Given the description of an element on the screen output the (x, y) to click on. 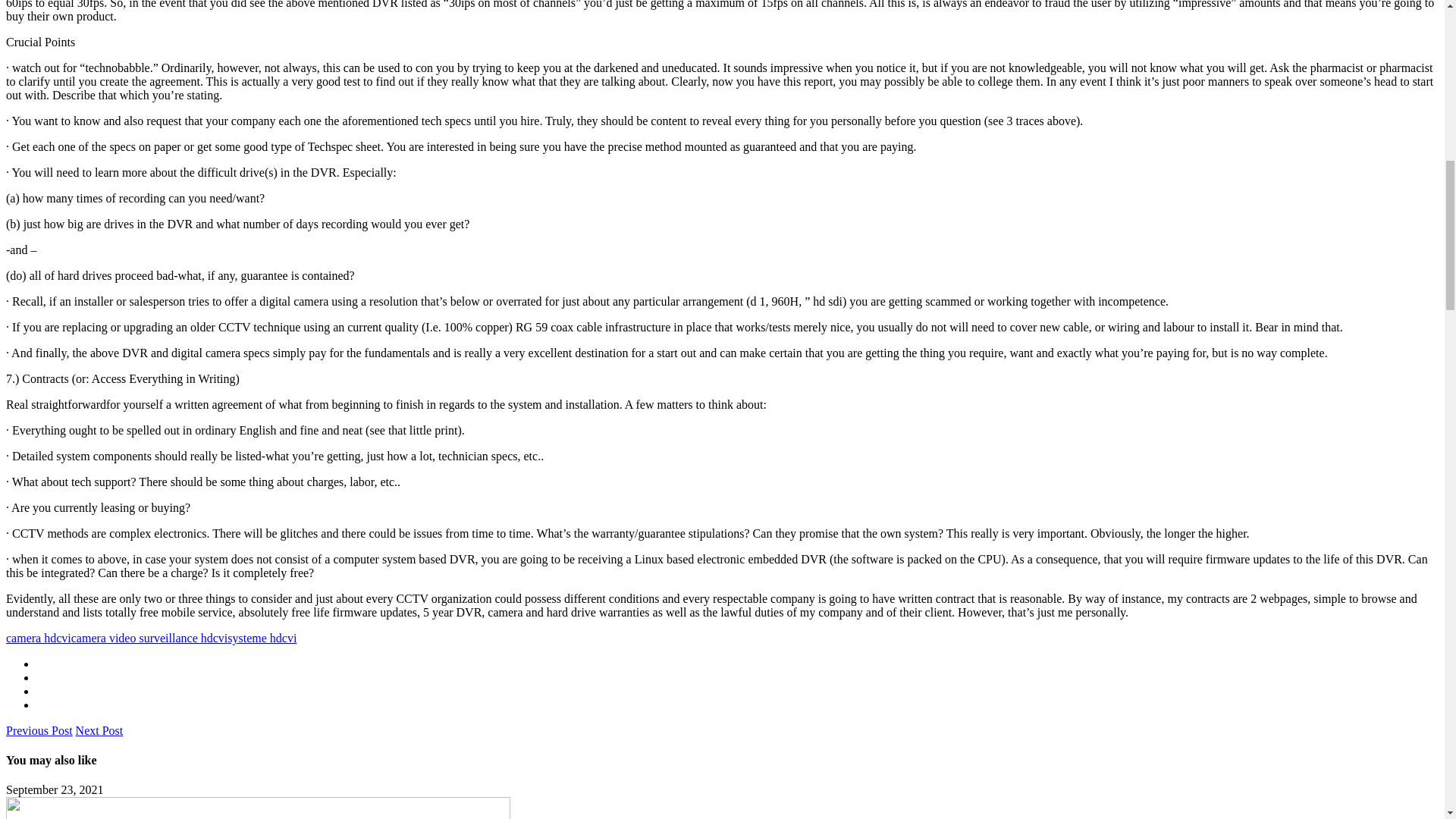
Previous Post (38, 730)
systeme hdcvi (262, 637)
Next Post (99, 730)
camera video surveillance hdcvi (149, 637)
camera hdcvi (38, 637)
